Given the description of an element on the screen output the (x, y) to click on. 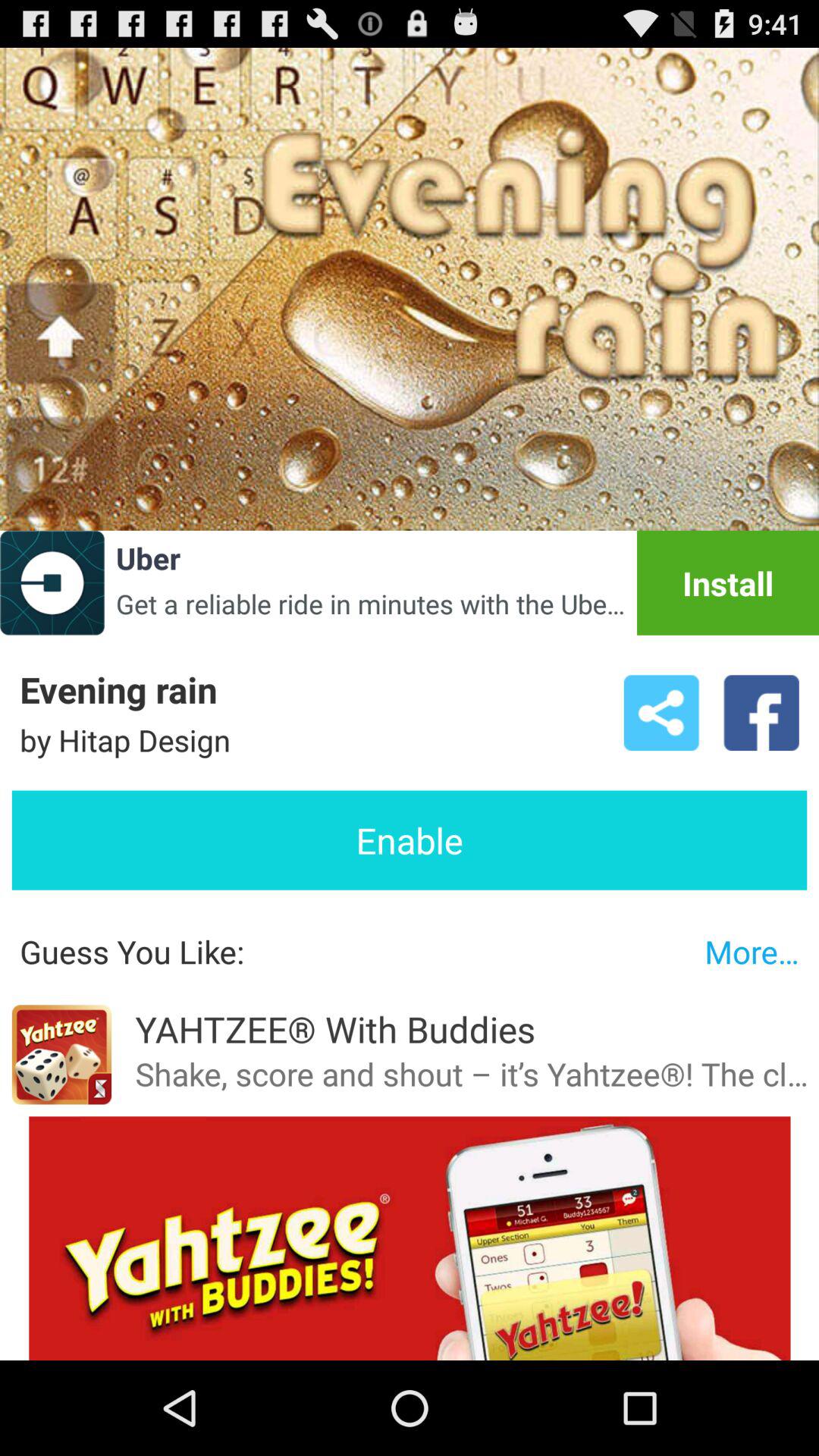
click on install button (728, 582)
